Given the description of an element on the screen output the (x, y) to click on. 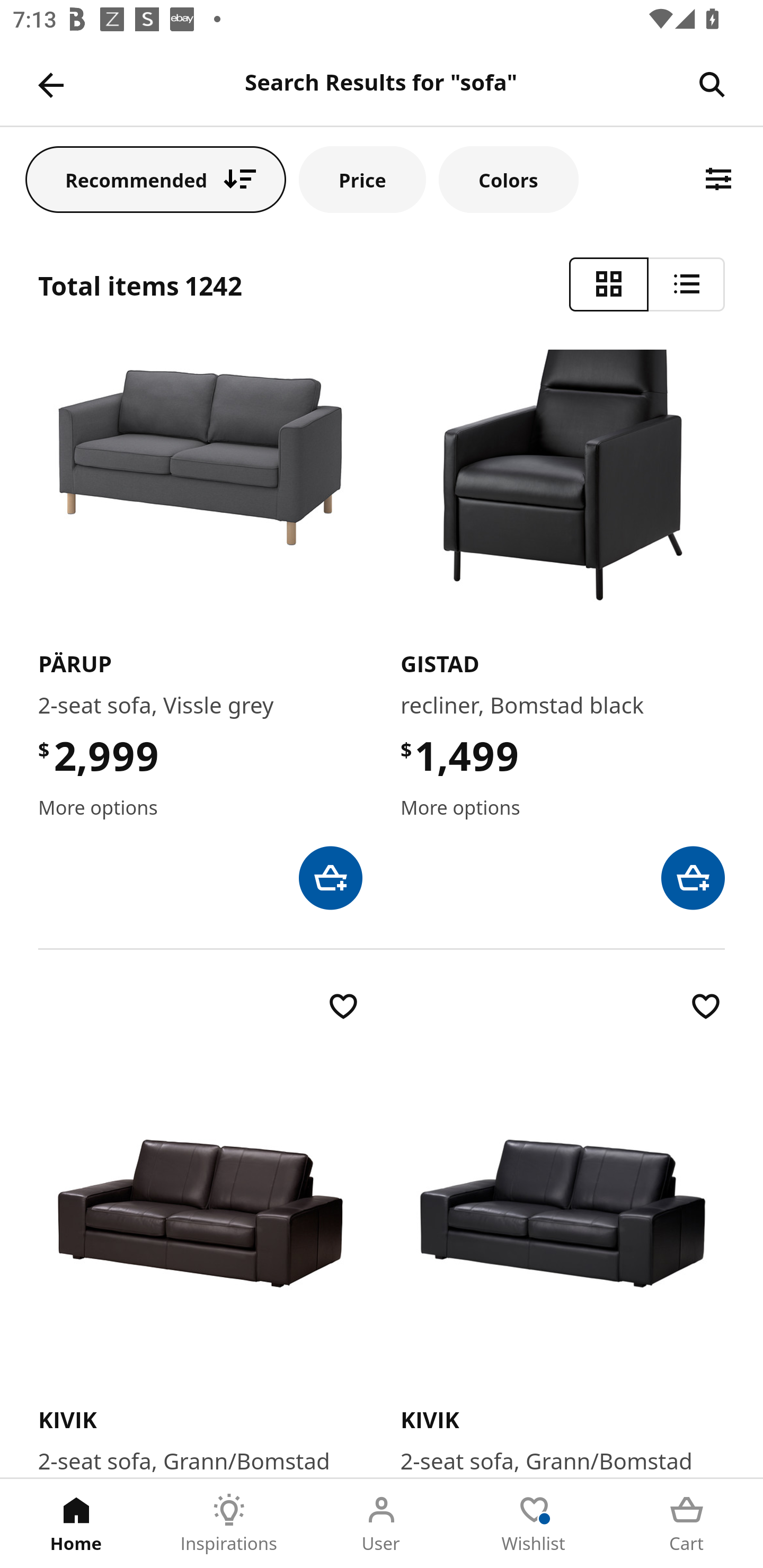
Recommended (155, 179)
Price (362, 179)
Colors (508, 179)
Home
Tab 1 of 5 (76, 1522)
Inspirations
Tab 2 of 5 (228, 1522)
User
Tab 3 of 5 (381, 1522)
Wishlist
Tab 4 of 5 (533, 1522)
Cart
Tab 5 of 5 (686, 1522)
